Given the description of an element on the screen output the (x, y) to click on. 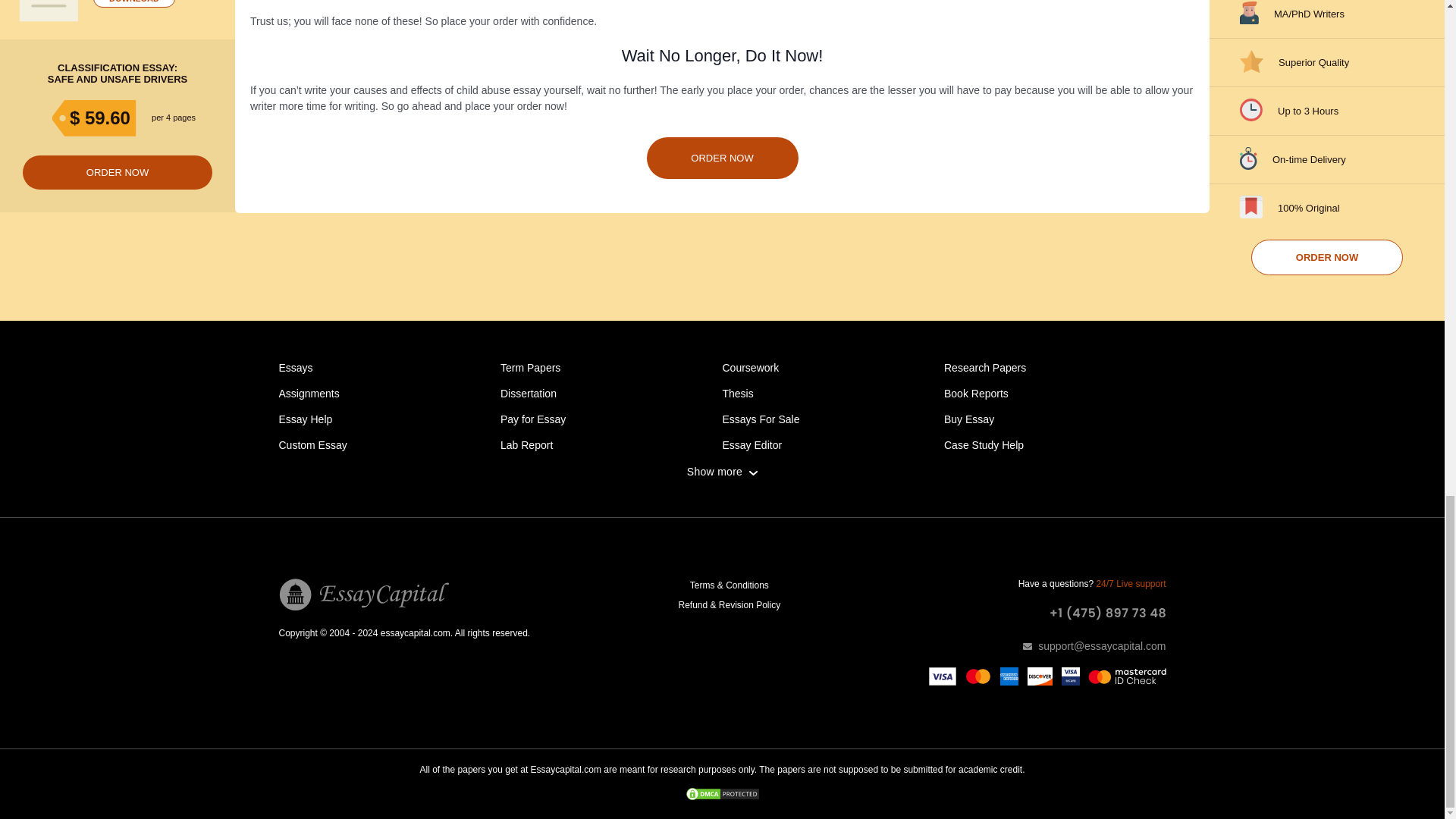
Term Papers (530, 367)
Buy Essay (968, 419)
Dissertation (528, 393)
ORDER NOW (1326, 257)
Research Papers (984, 367)
Book Reports (976, 393)
Assignments (309, 393)
Coursework (750, 367)
Essays For Sale (760, 419)
Essays (296, 367)
ORDER NOW (117, 172)
Pay for Essay (533, 419)
DMCA.com Protection Status (722, 794)
DOWNLOAD (133, 3)
Thesis (737, 393)
